Given the description of an element on the screen output the (x, y) to click on. 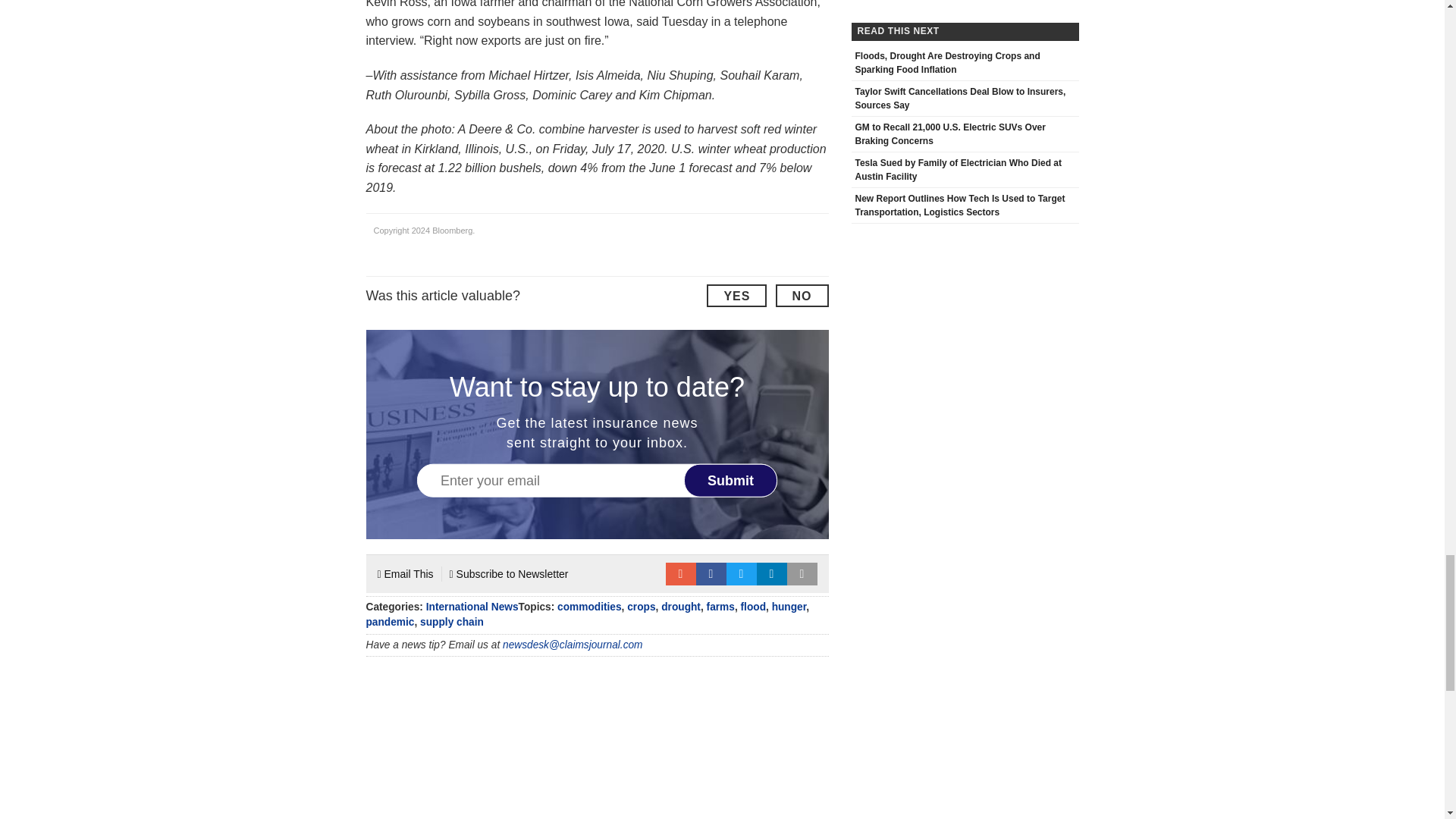
Subscribe to Newsletter (509, 573)
Email to a friend (680, 573)
YES (736, 295)
Email This (405, 573)
NO (801, 295)
Print Article (801, 573)
Share on Twitter. (741, 573)
Share on LinkedIn. (772, 573)
Email to a friend (680, 573)
Submit (730, 480)
